Given the description of an element on the screen output the (x, y) to click on. 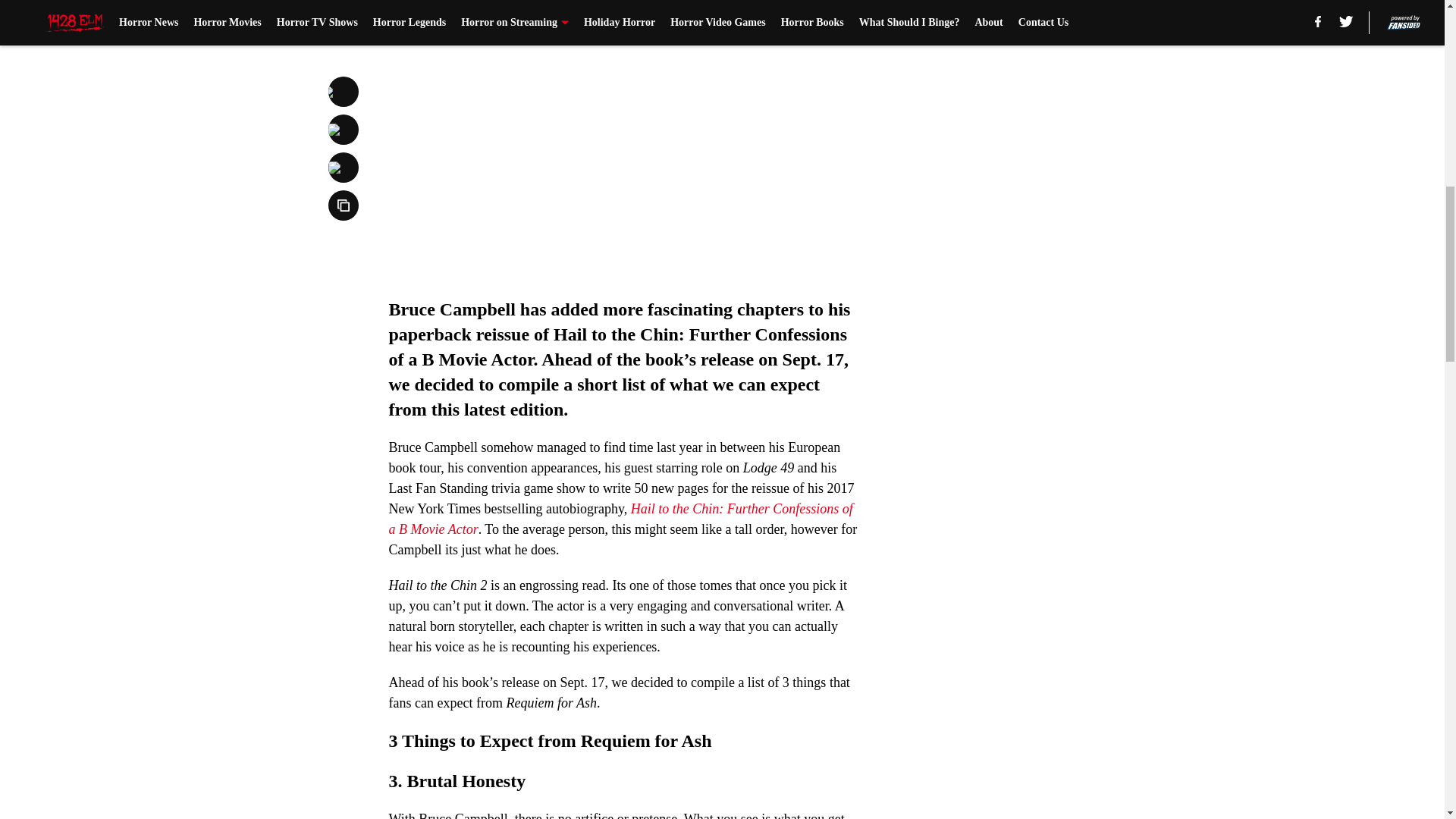
Hail to the Chin: Further Confessions of a B Movie Actor (619, 519)
